Given the description of an element on the screen output the (x, y) to click on. 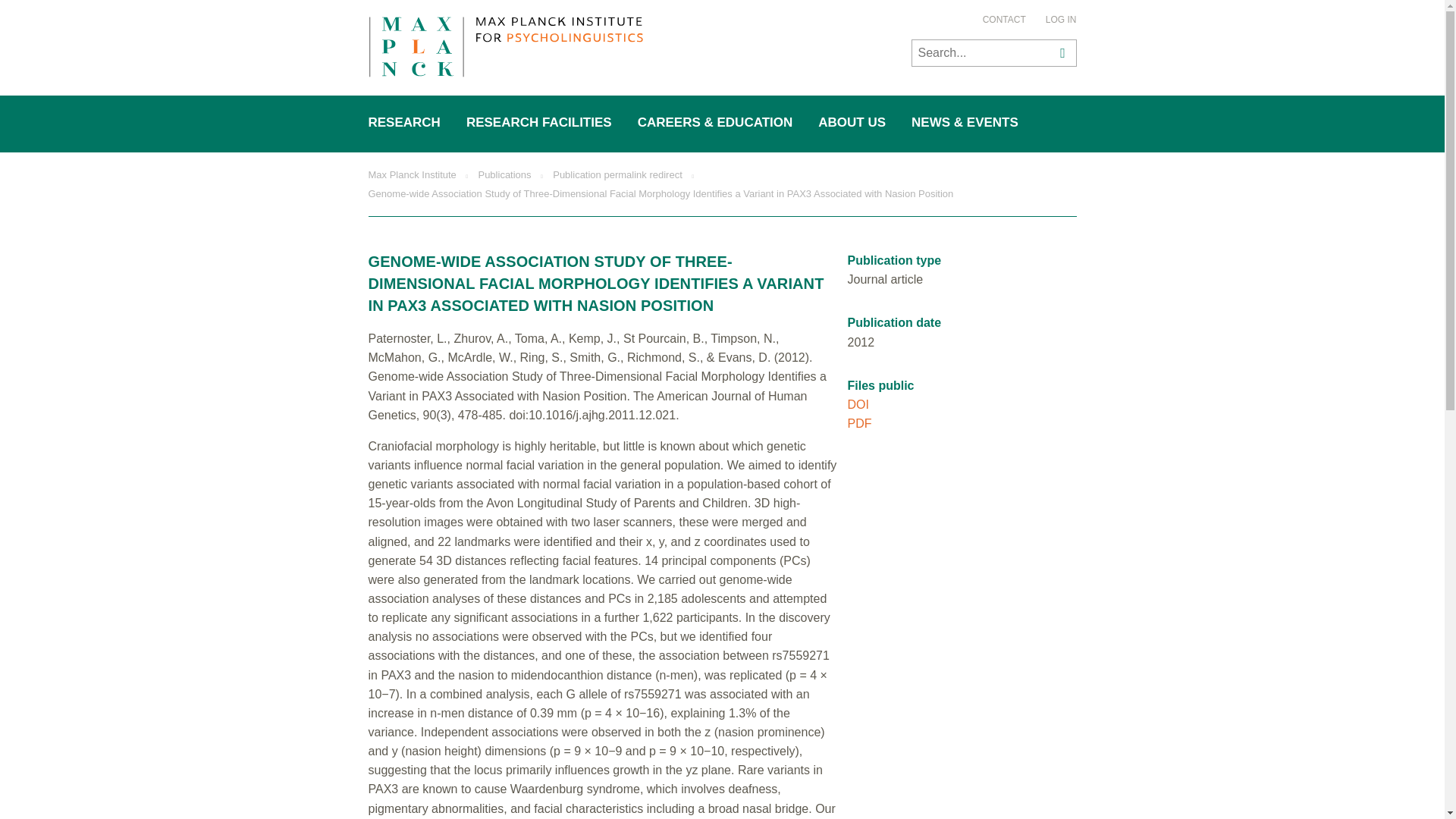
Publications (504, 174)
RESEARCH (404, 122)
CONTACT (1004, 19)
Search (1060, 52)
DOI (858, 404)
Home (505, 49)
ABOUT US (851, 122)
Search (1060, 52)
